Given the description of an element on the screen output the (x, y) to click on. 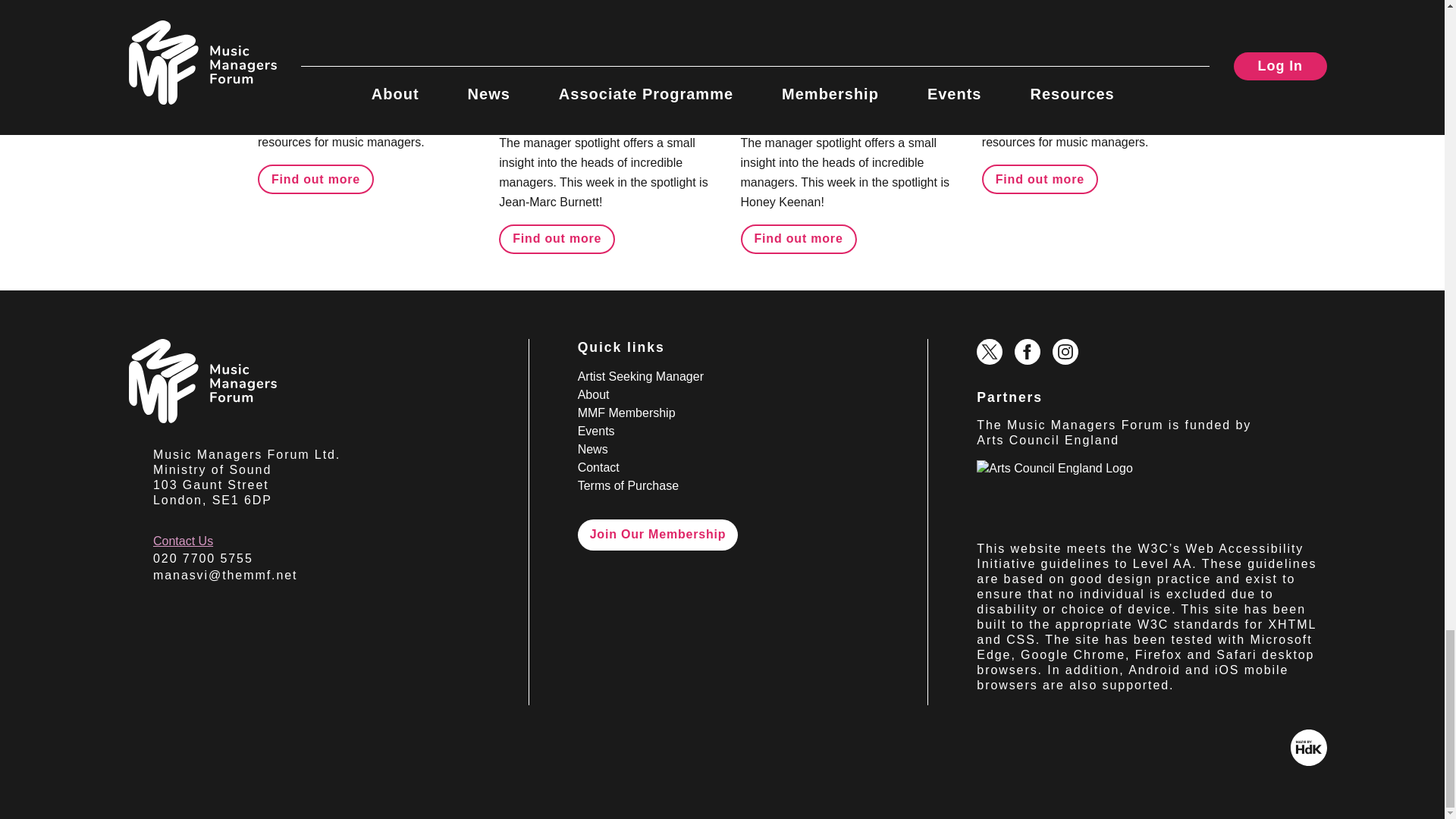
News (392, 22)
Find out more (556, 238)
MMF Updates (305, 22)
020 7700 5755 (202, 558)
Find out more (1039, 179)
Manager's Spotlight (563, 22)
Manager's Spotlight (805, 22)
Find out more (799, 238)
Find out more (315, 179)
MMF Updates (1029, 22)
Artist Seeking Manager (640, 376)
Contact Us (182, 540)
News (1116, 22)
